Given the description of an element on the screen output the (x, y) to click on. 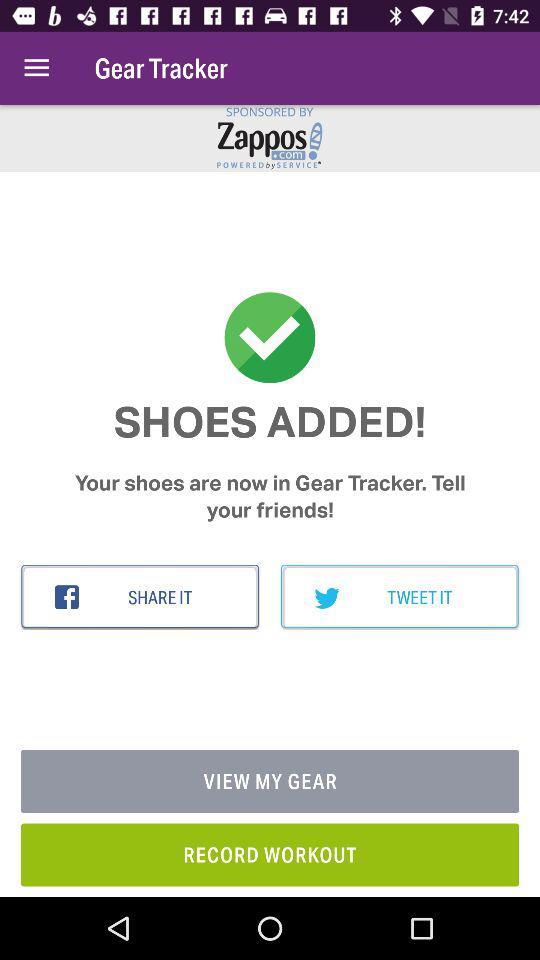
turn on share it item (140, 597)
